Given the description of an element on the screen output the (x, y) to click on. 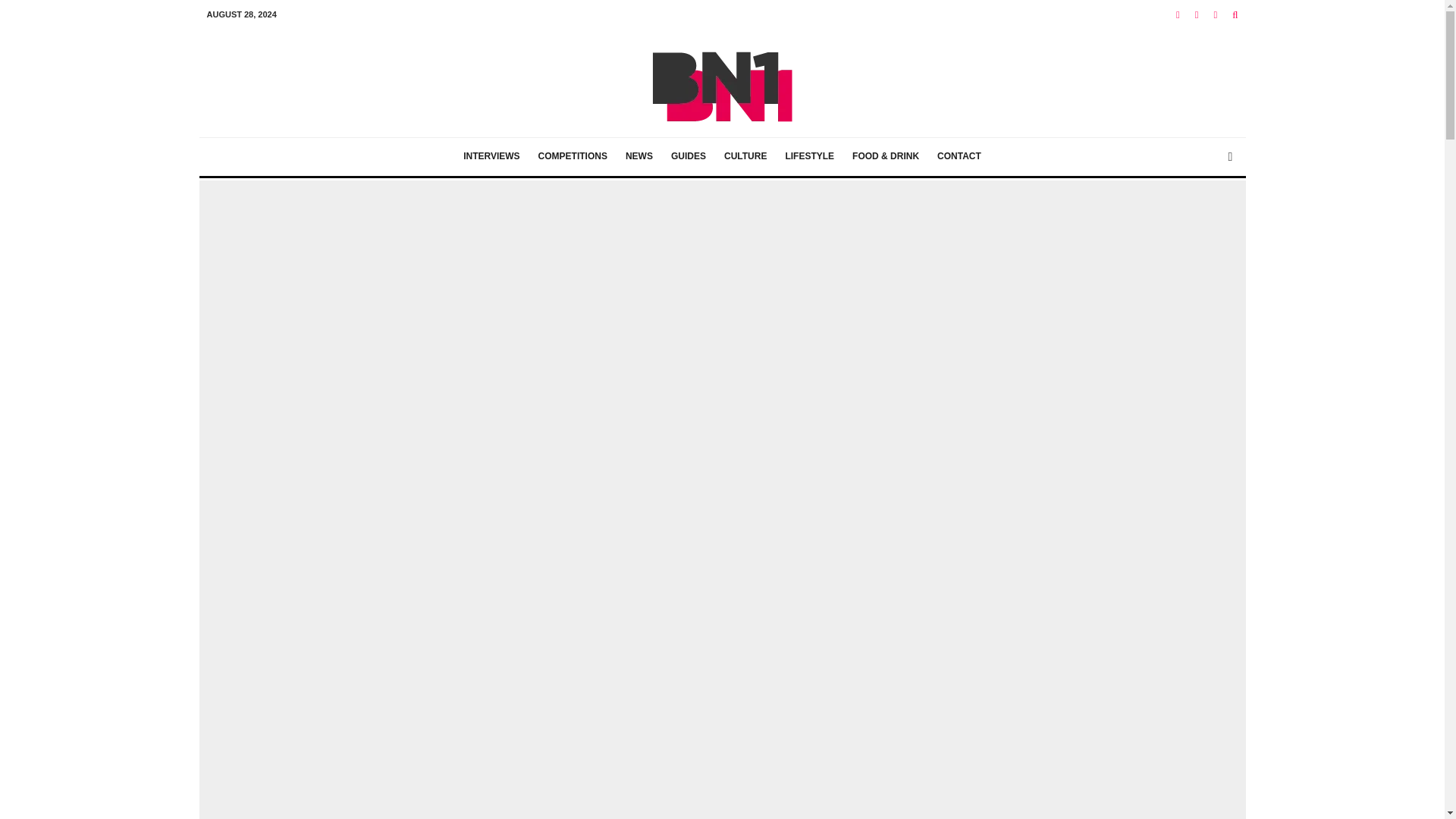
NEWS (638, 157)
COMPETITIONS (572, 157)
INTERVIEWS (491, 157)
GUIDES (688, 157)
